Given the description of an element on the screen output the (x, y) to click on. 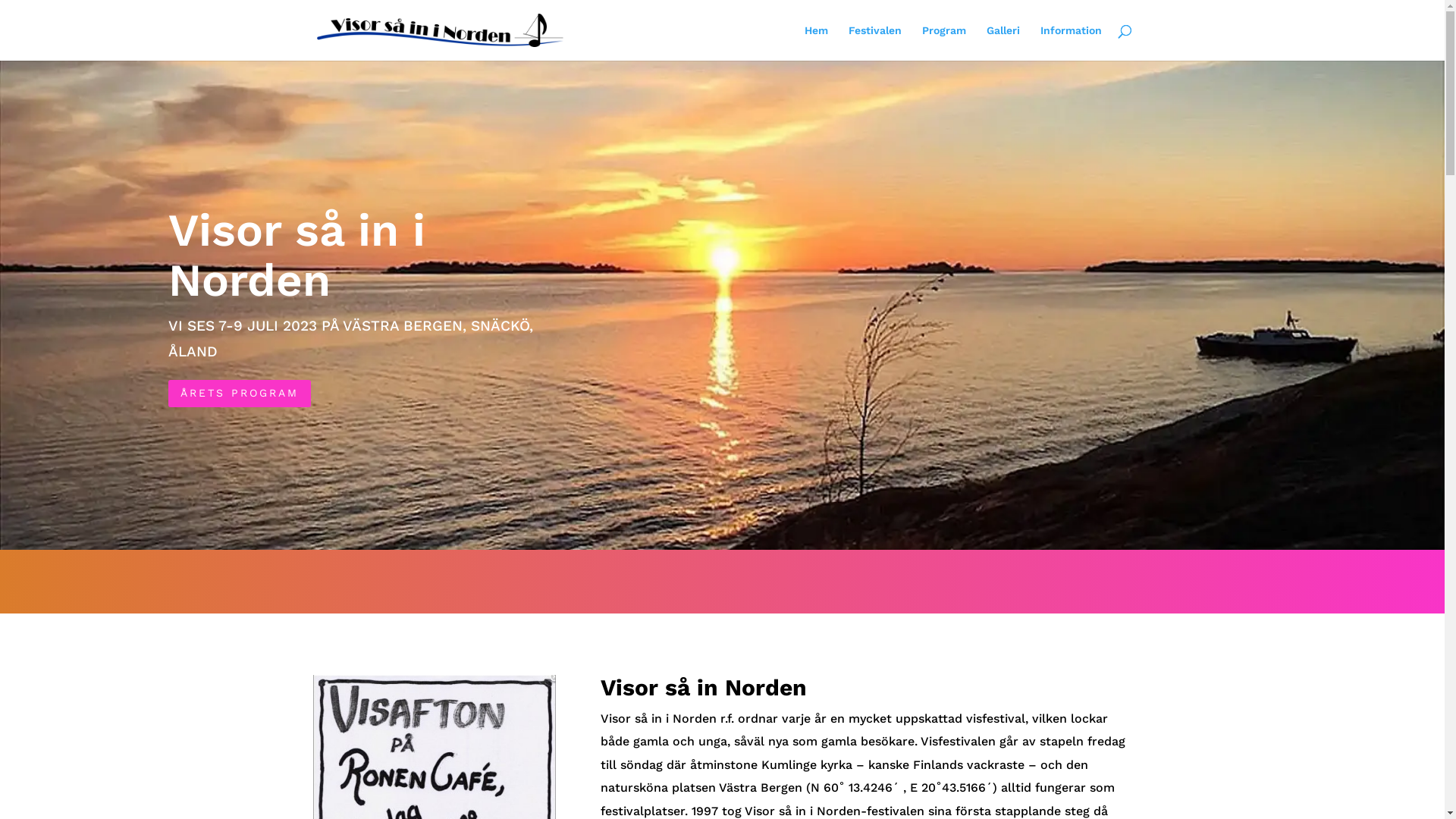
Hem Element type: text (815, 42)
Galleri Element type: text (1002, 42)
Information Element type: text (1070, 42)
Festivalen Element type: text (873, 42)
Program Element type: text (944, 42)
